Given the description of an element on the screen output the (x, y) to click on. 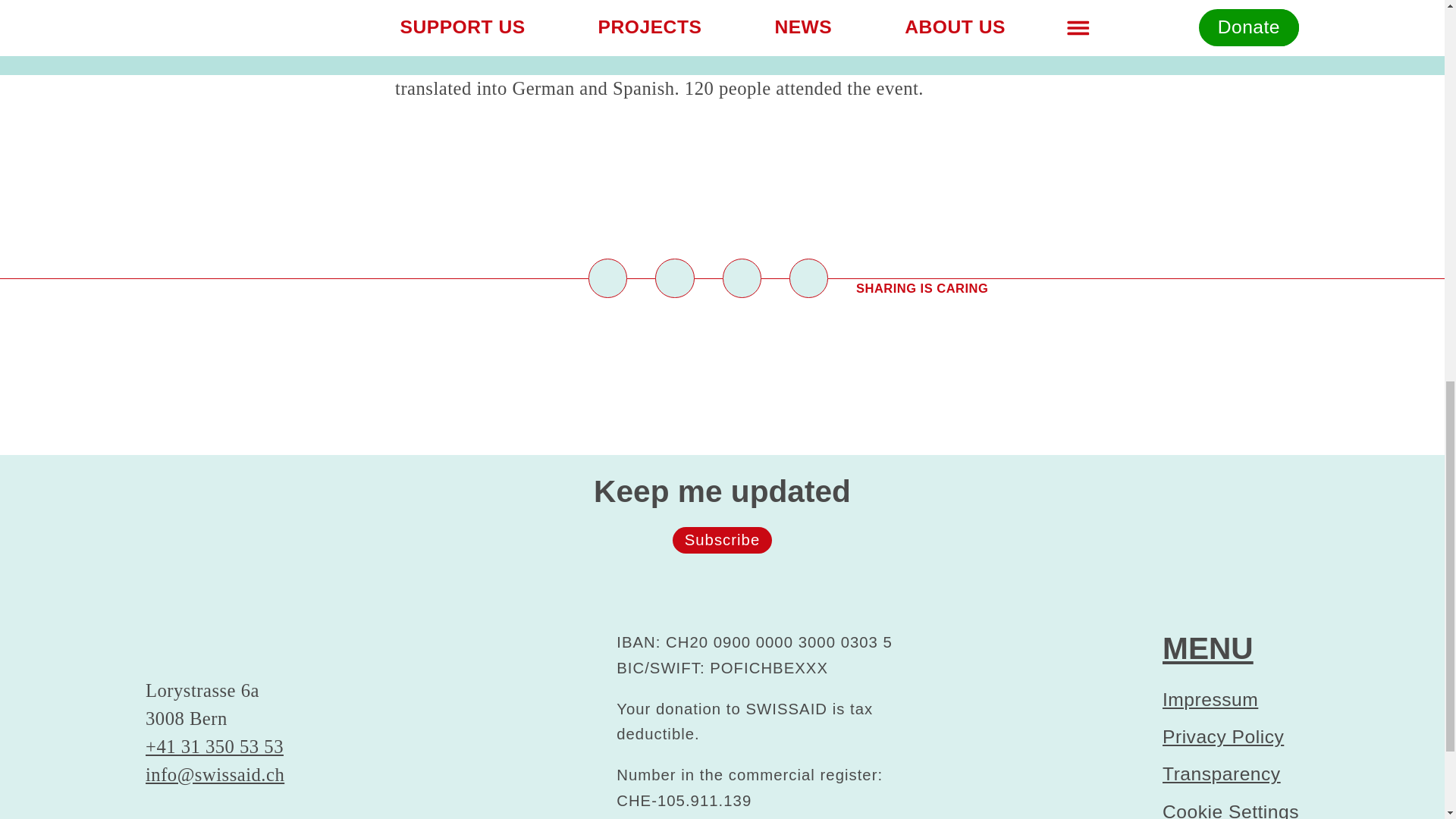
Twitter (674, 277)
SWISSAID (247, 650)
Linkedin (741, 277)
Facebook (607, 277)
